Given the description of an element on the screen output the (x, y) to click on. 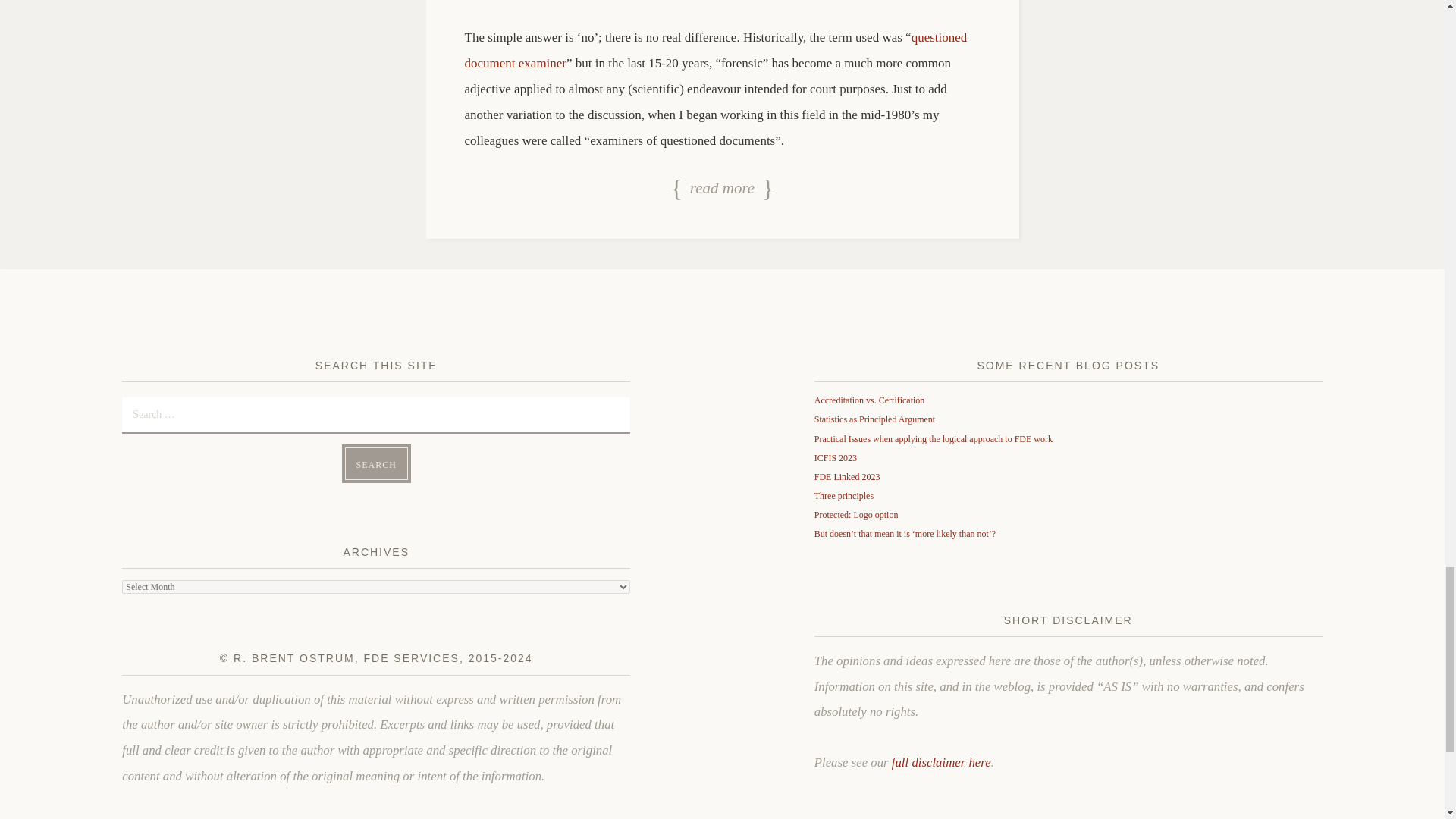
Search (376, 463)
Search (376, 463)
WP QDE information (715, 50)
